Given the description of an element on the screen output the (x, y) to click on. 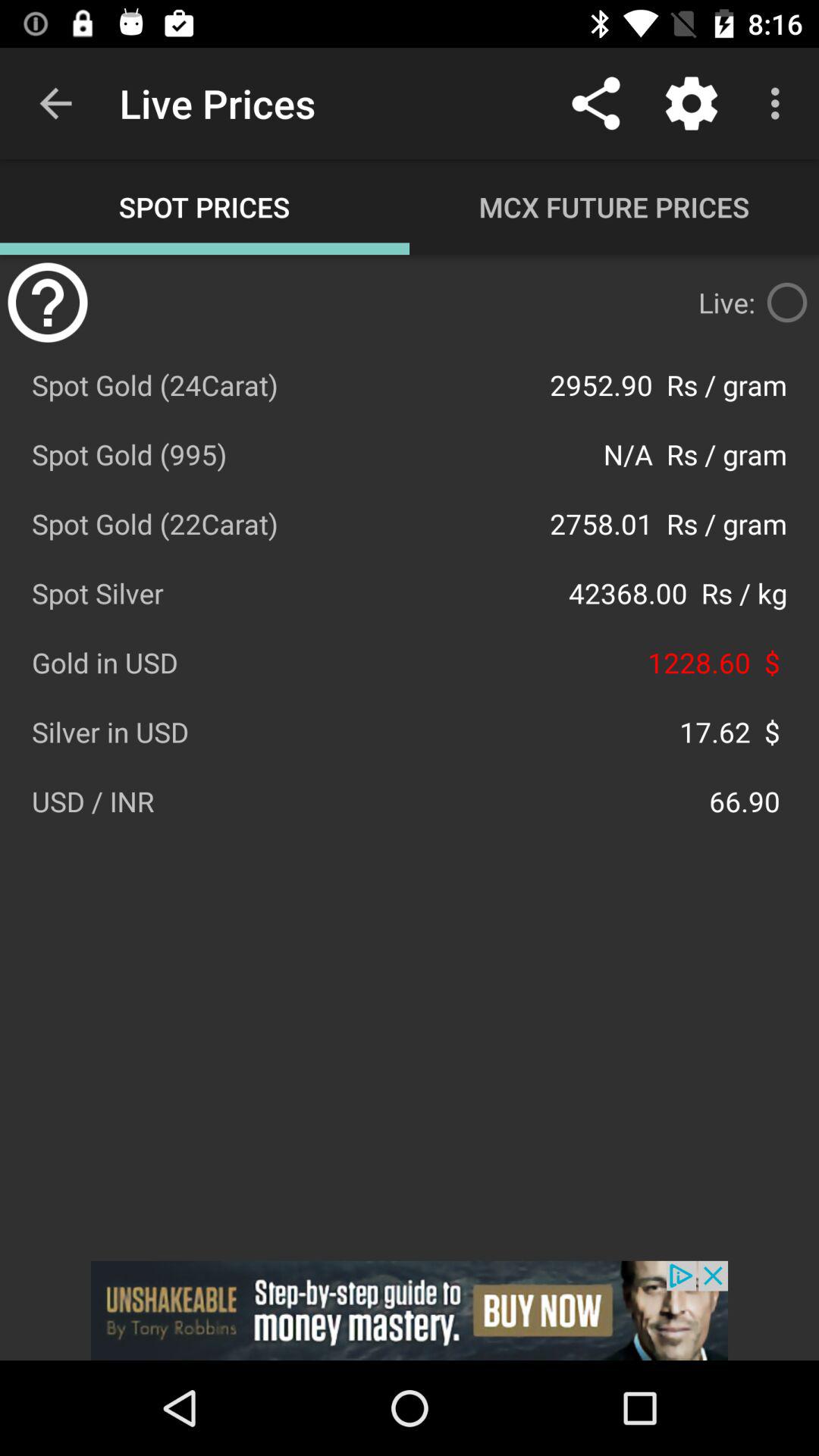
advertisement (409, 1310)
